Given the description of an element on the screen output the (x, y) to click on. 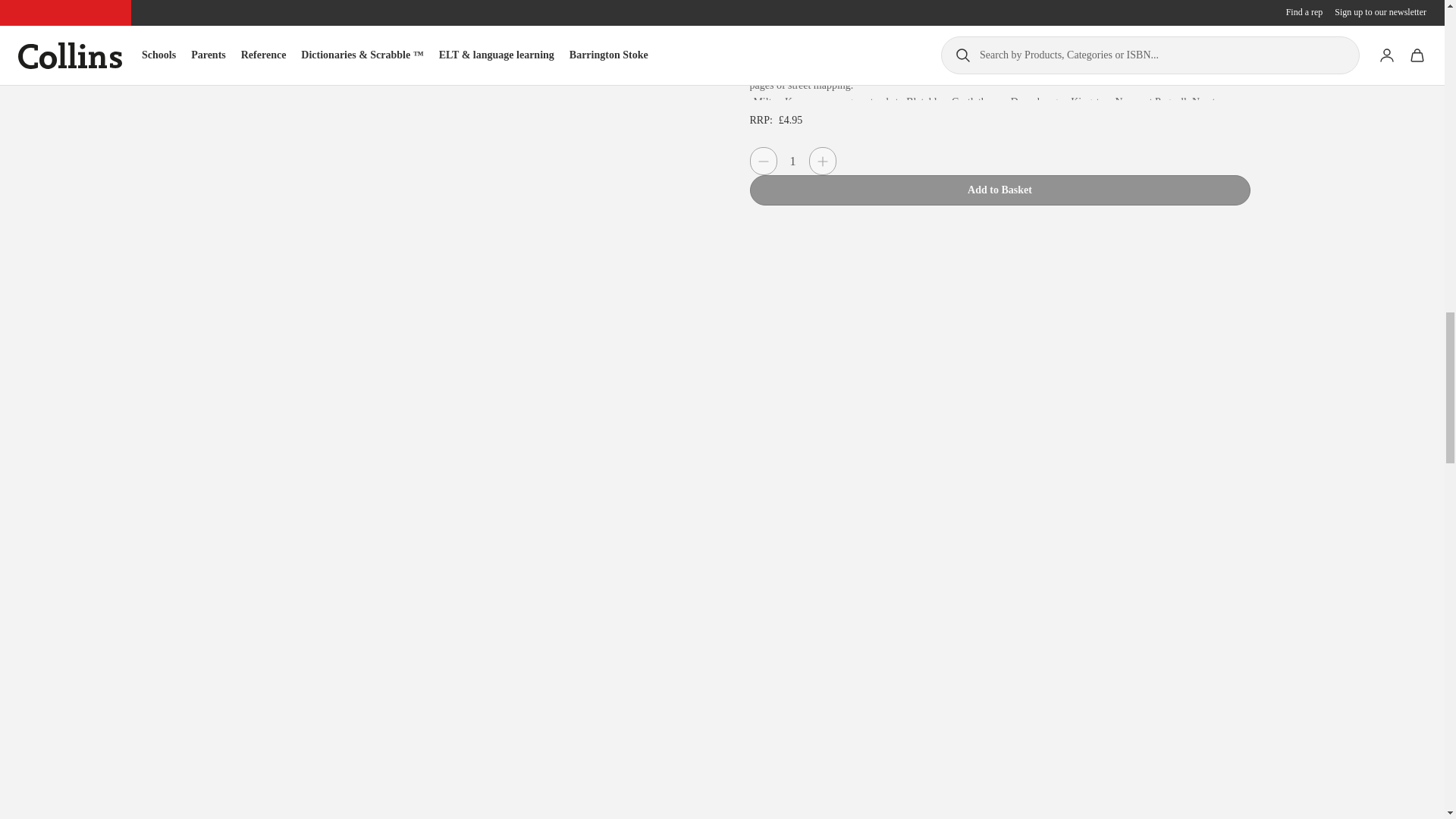
1 (791, 160)
Increase quantity (821, 160)
Add to Basket (999, 190)
Decrease quantity (762, 160)
